Given the description of an element on the screen output the (x, y) to click on. 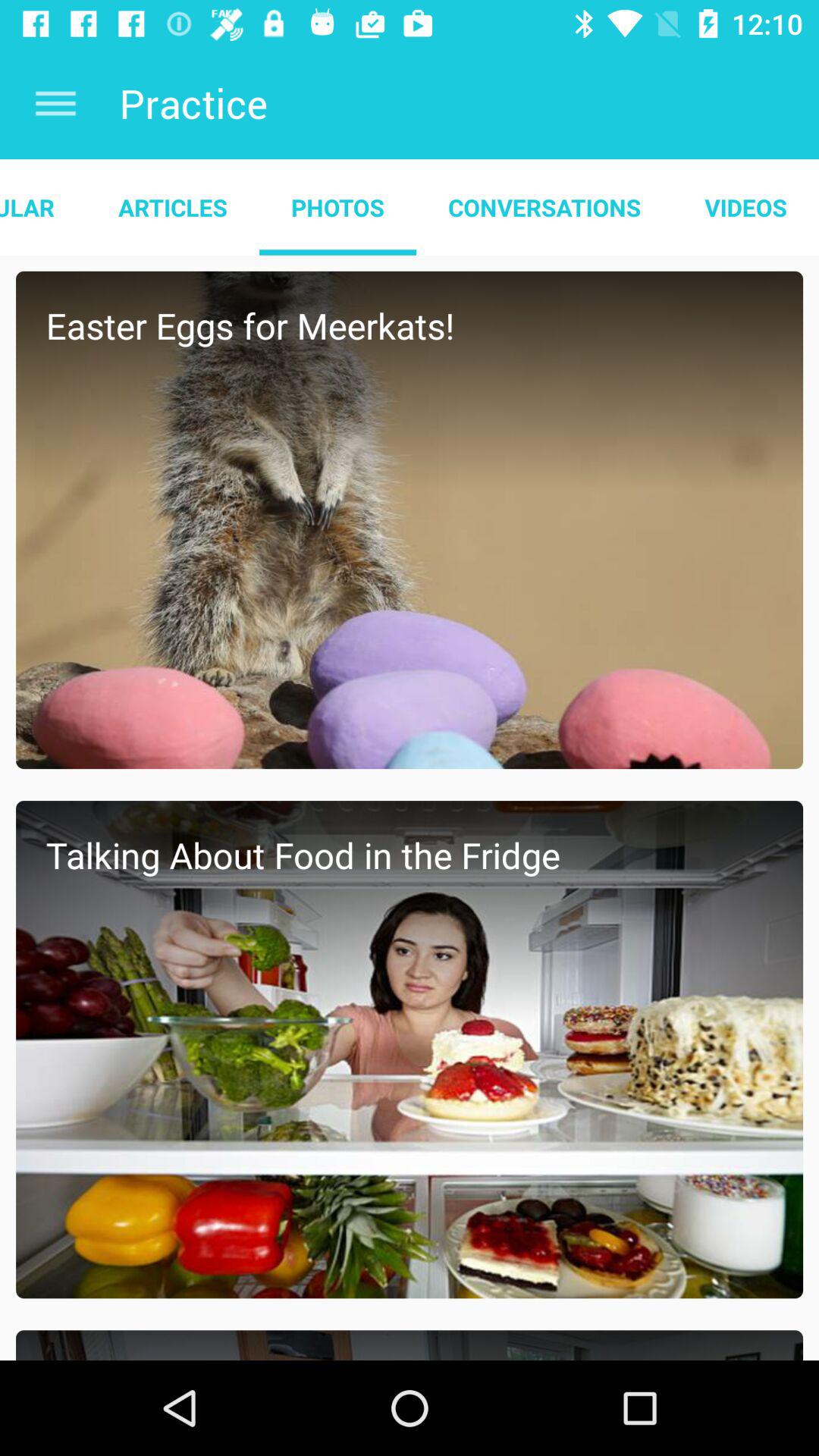
tap the videos at the top right corner (745, 207)
